Given the description of an element on the screen output the (x, y) to click on. 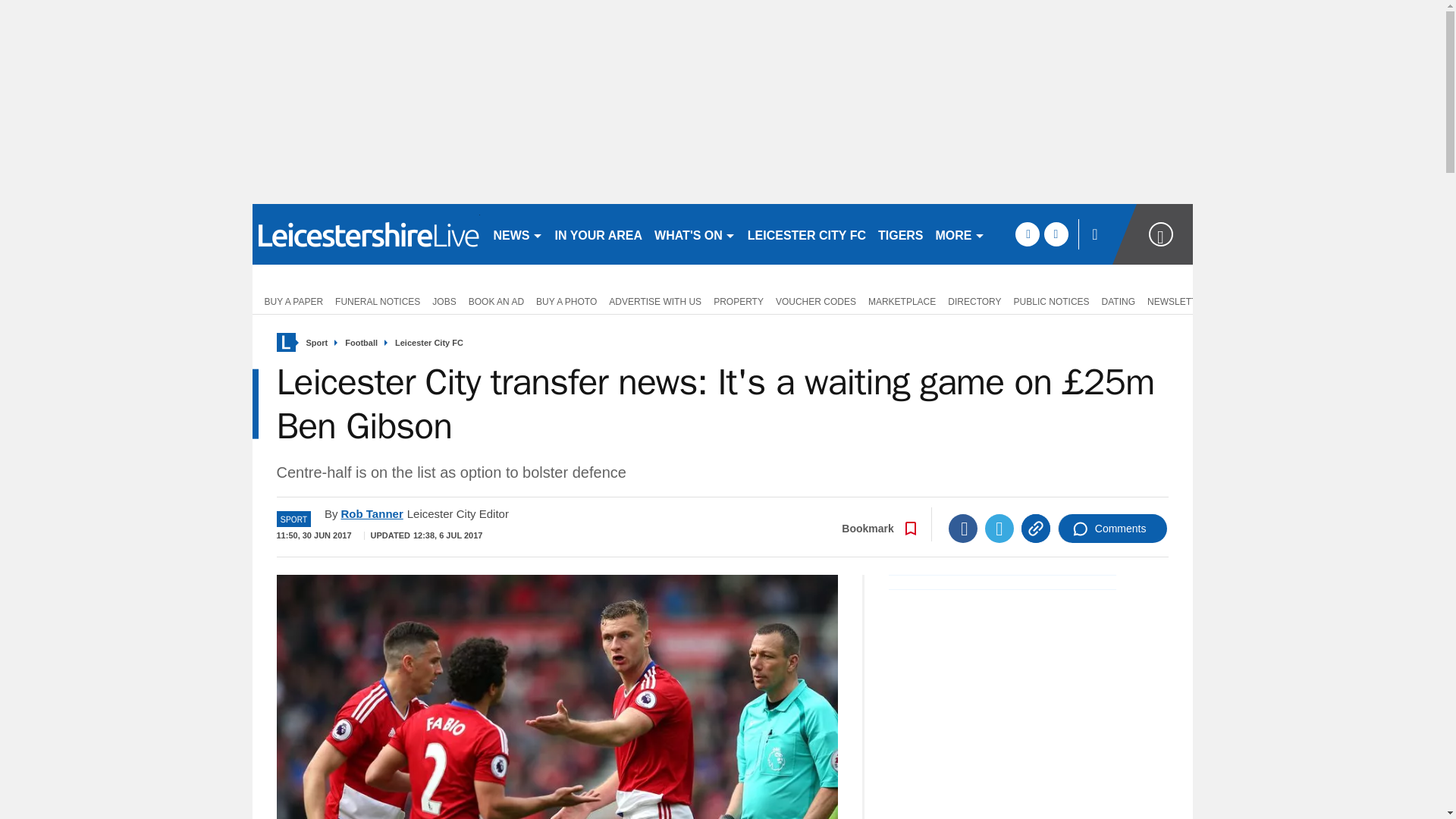
NEWS (517, 233)
TIGERS (901, 233)
leicestermercury (365, 233)
IN YOUR AREA (598, 233)
WHAT'S ON (694, 233)
twitter (1055, 233)
Comments (1112, 528)
LEICESTER CITY FC (806, 233)
facebook (1026, 233)
Twitter (999, 528)
Facebook (962, 528)
MORE (960, 233)
